Given the description of an element on the screen output the (x, y) to click on. 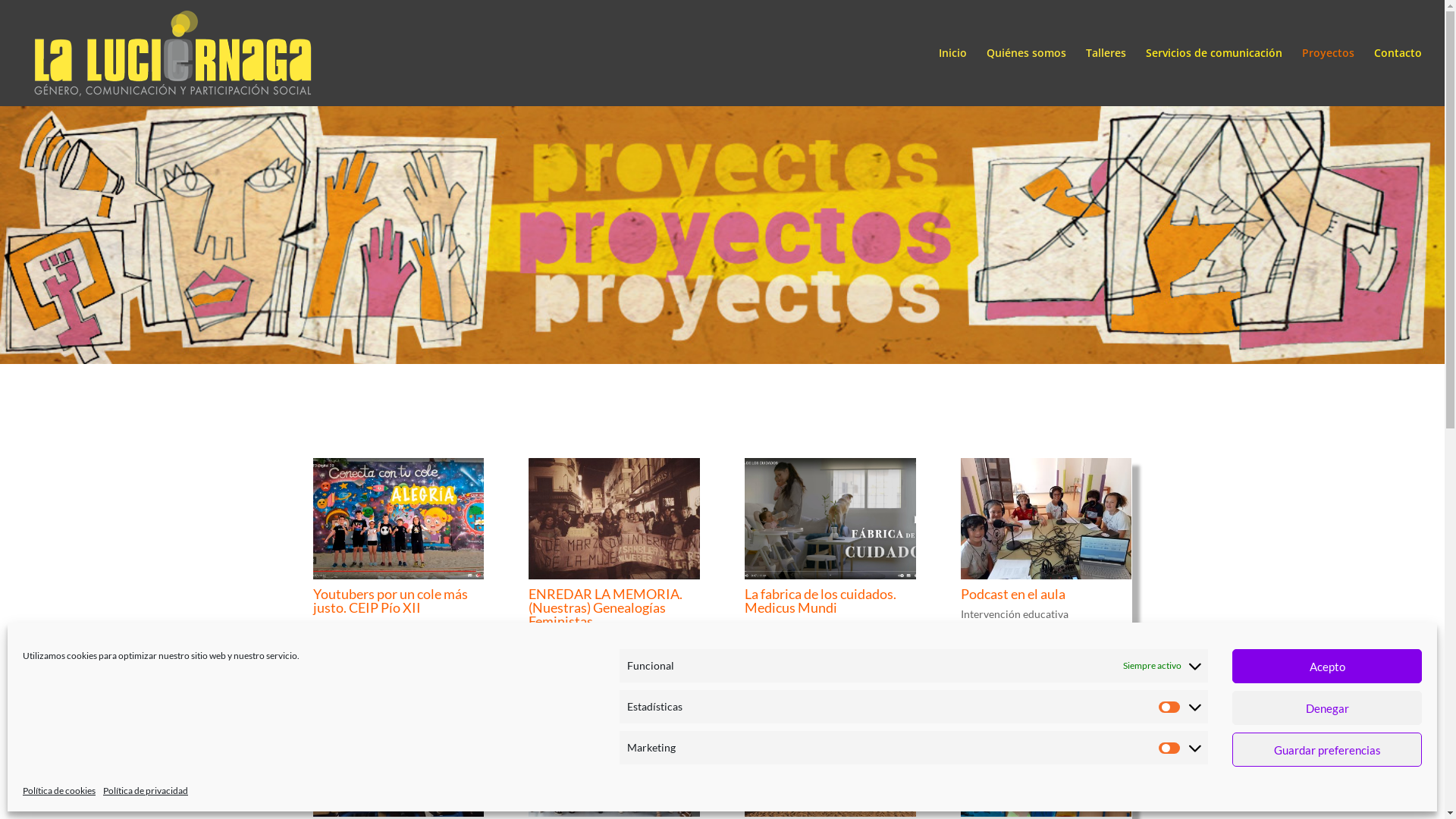
Proyectos Element type: text (1328, 76)
Denegar Element type: text (1326, 707)
La fabrica de los cuidados. Medicus Mundi Element type: text (820, 600)
Guardar preferencias Element type: text (1326, 749)
Aula Refugio Element type: hover (1045, 755)
Talleres Element type: text (1105, 76)
Las Resilientes Element type: hover (613, 755)
Inicio Element type: text (952, 76)
Periodistas Escolares 3.0 Element type: hover (829, 755)
PROYECTOS (1) Element type: hover (722, 235)
Podcast en el aula Element type: hover (1045, 518)
Contacto Element type: text (1397, 76)
La fabrica de los cuidados. Medicus Mundi Element type: hover (829, 518)
Acepto Element type: text (1326, 666)
Podcast en el aula Element type: text (1012, 593)
